Given the description of an element on the screen output the (x, y) to click on. 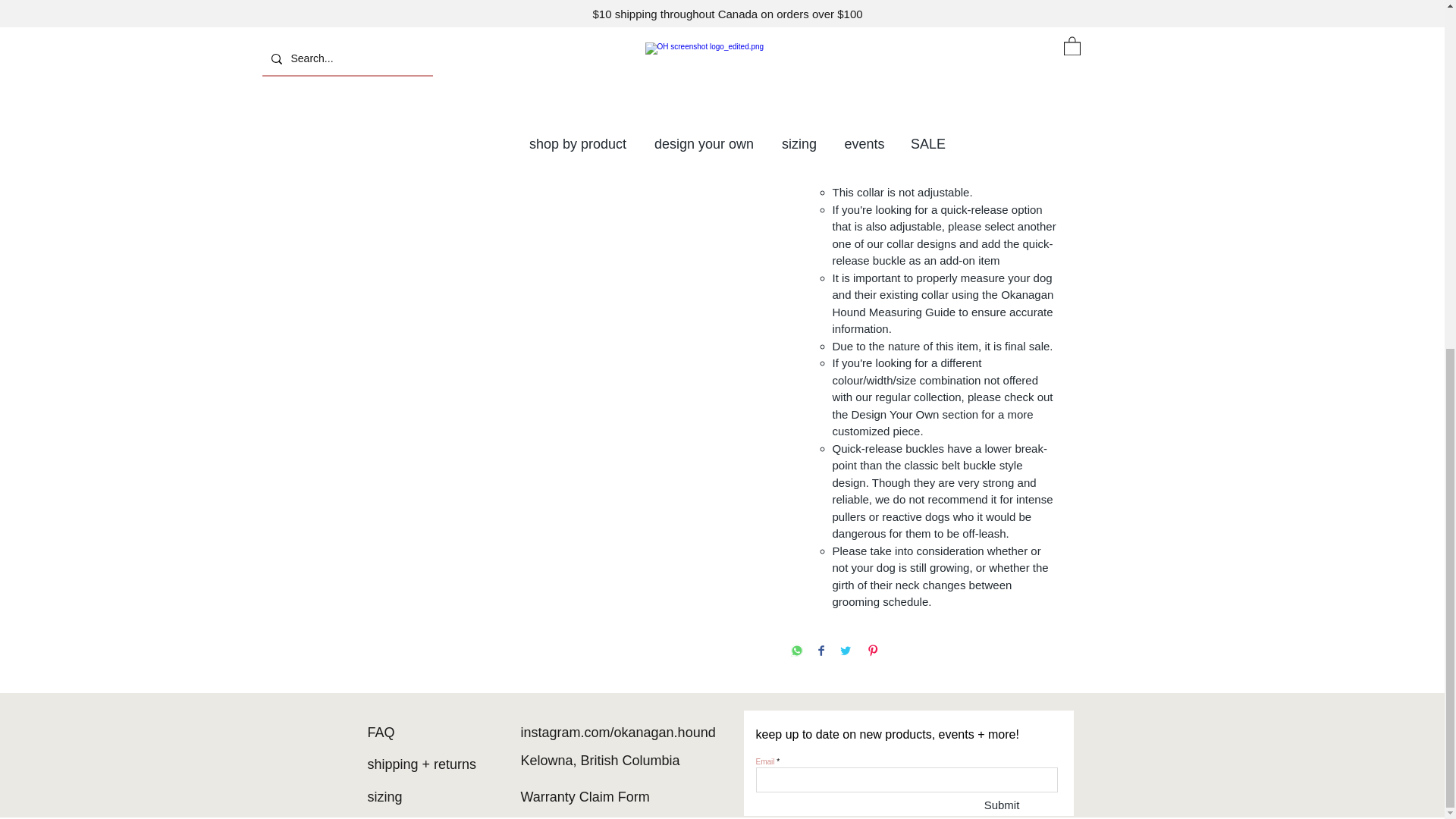
Warranty Claim Form (584, 796)
Buy Now (924, 103)
1 (818, 12)
Submit (1002, 804)
Add to Cart (924, 64)
FAQ (380, 732)
Important information about this item (924, 163)
sizing  (386, 796)
